Given the description of an element on the screen output the (x, y) to click on. 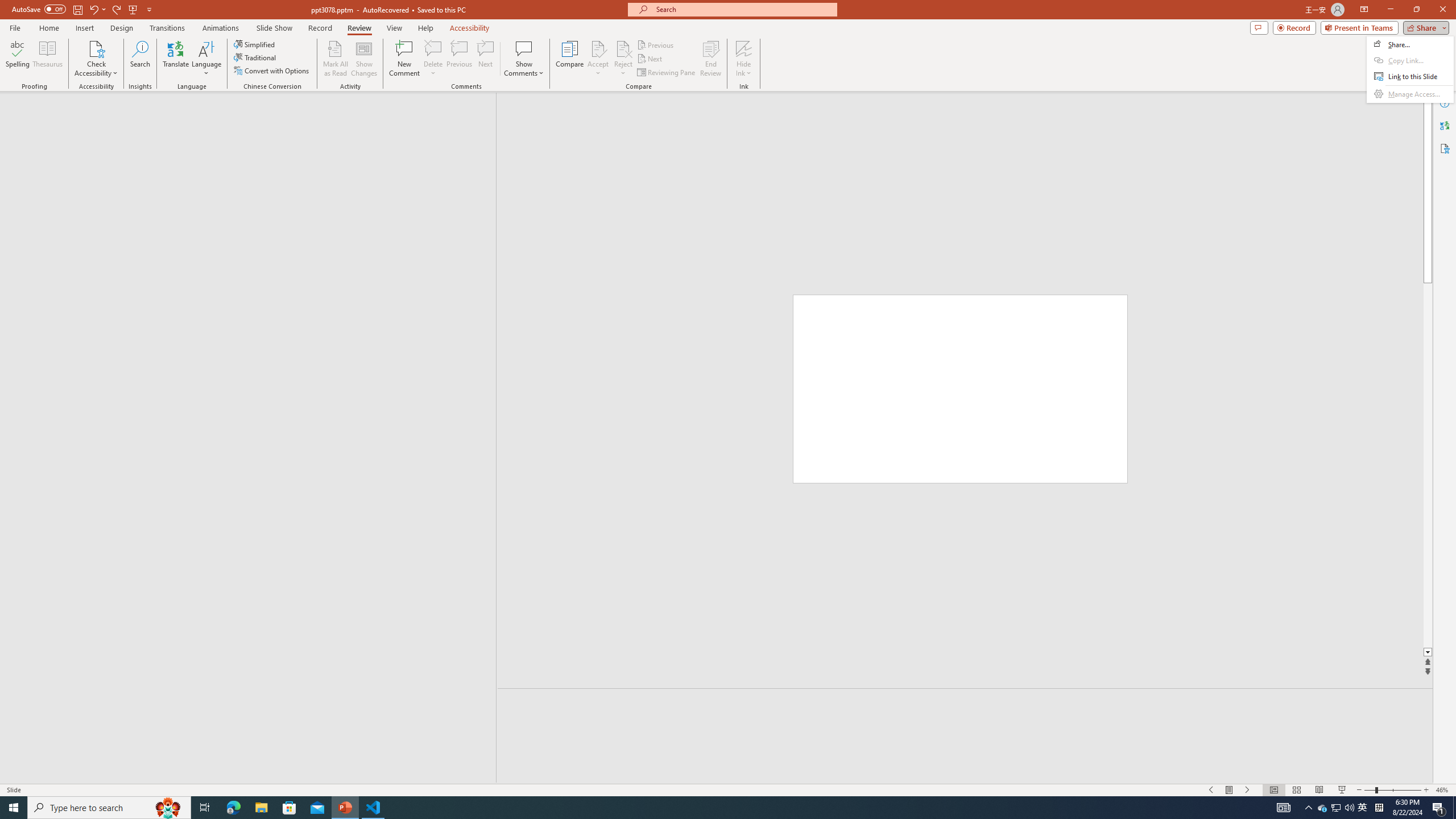
Mark All as Read (335, 58)
Type here to search (108, 807)
Show Comments (524, 48)
Hide Ink (1322, 807)
Thesaurus... (743, 58)
Reject Change (47, 58)
Q2790: 100% (622, 48)
